Given the description of an element on the screen output the (x, y) to click on. 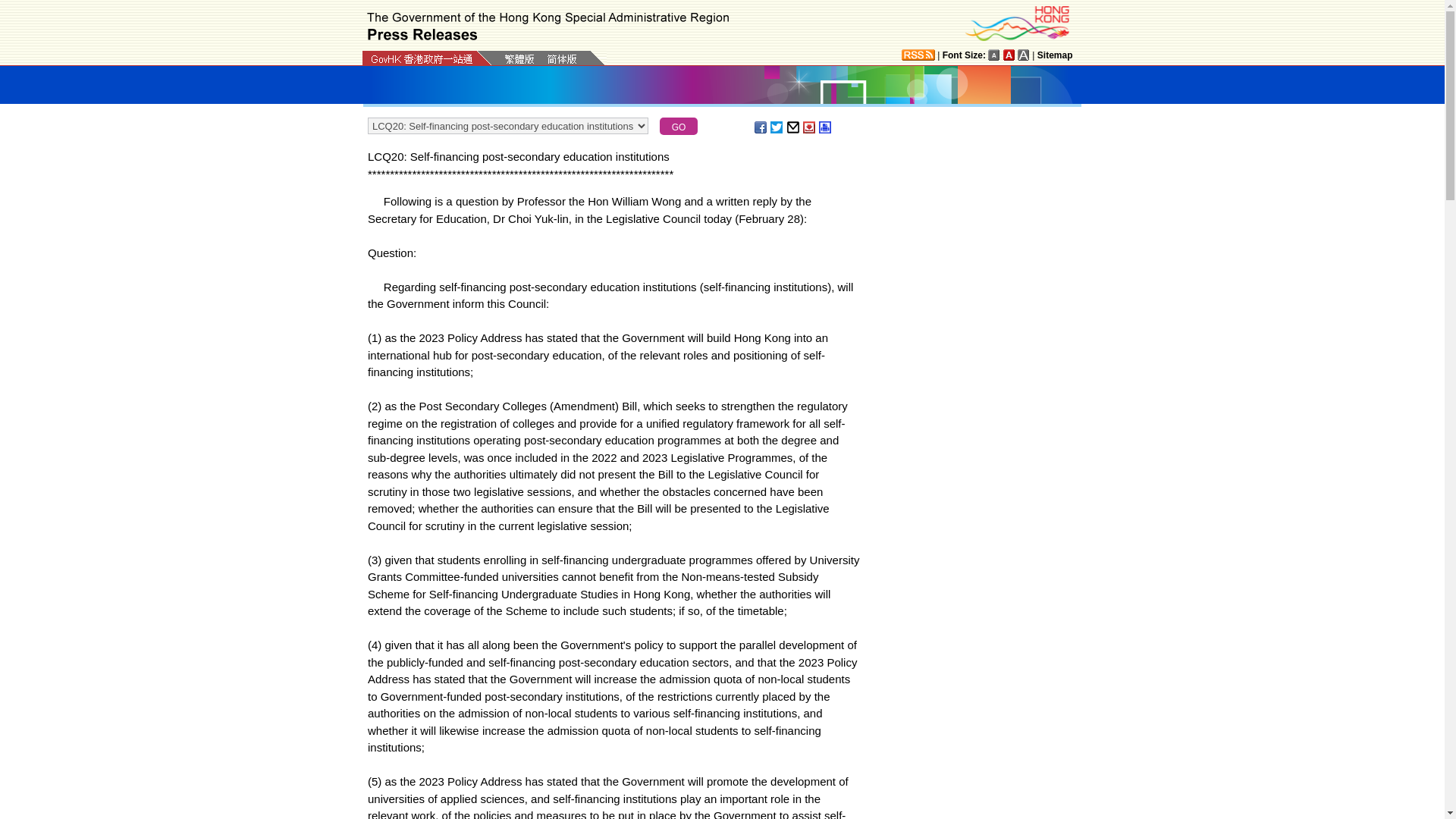
GO (678, 126)
Simplified Chinese (561, 59)
Print (825, 127)
Traditional Chinese (519, 58)
GO (678, 126)
Largest font size (1023, 54)
Save (809, 127)
Share on Facebook (761, 127)
Larger font size (1008, 54)
Default font size (994, 54)
GovHK (421, 58)
Email (793, 127)
Sitemap (1054, 54)
Share on Twitter (777, 127)
